Given the description of an element on the screen output the (x, y) to click on. 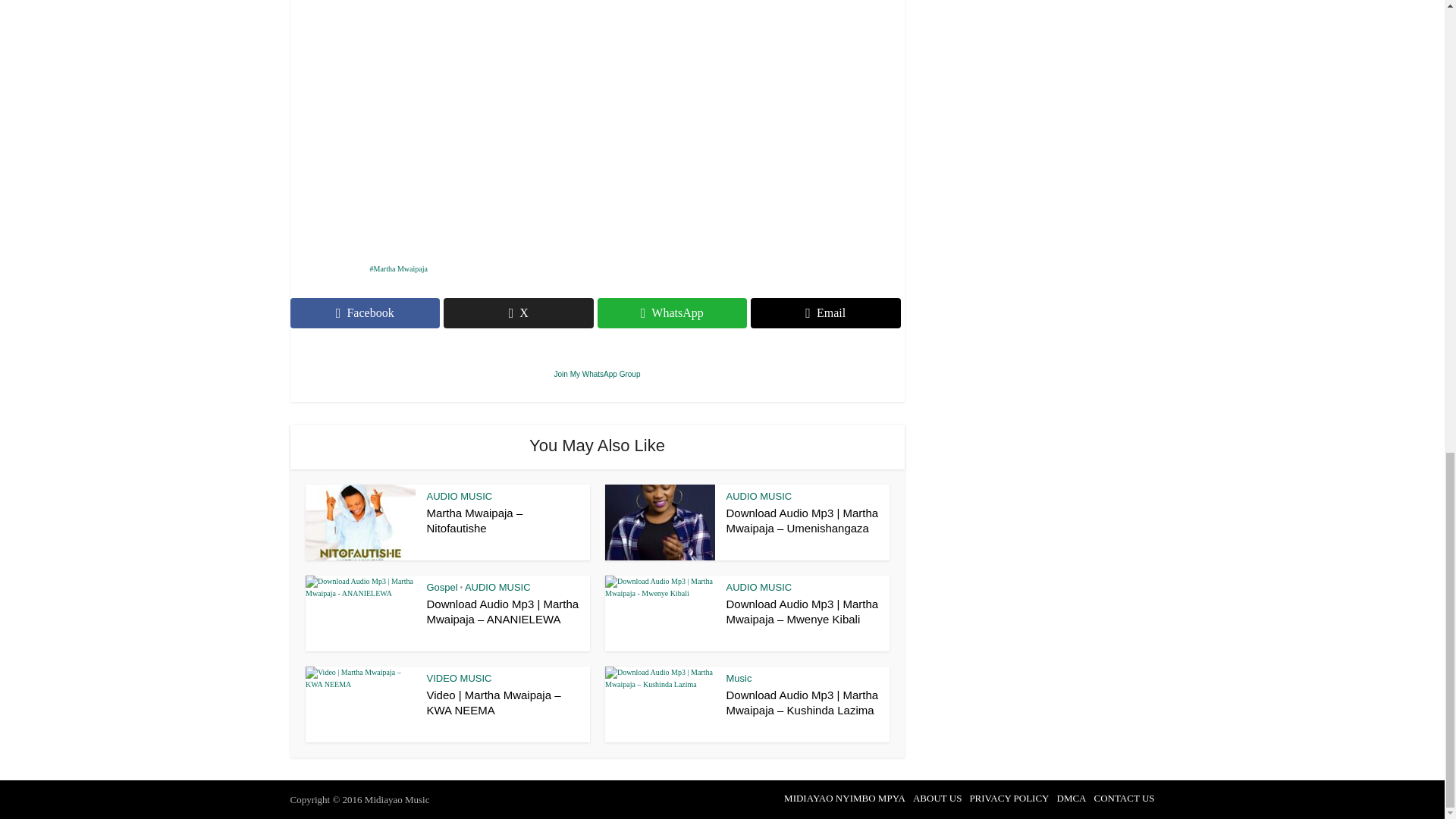
AUDIO MUSIC (459, 496)
Facebook (364, 313)
Gospel (441, 586)
AUDIO MUSIC (759, 496)
Music (739, 677)
Join My WhatsApp Group (597, 374)
Martha Mwaipaja (398, 268)
AUDIO MUSIC (497, 586)
AUDIO MUSIC (759, 586)
Email (826, 313)
